Given the description of an element on the screen output the (x, y) to click on. 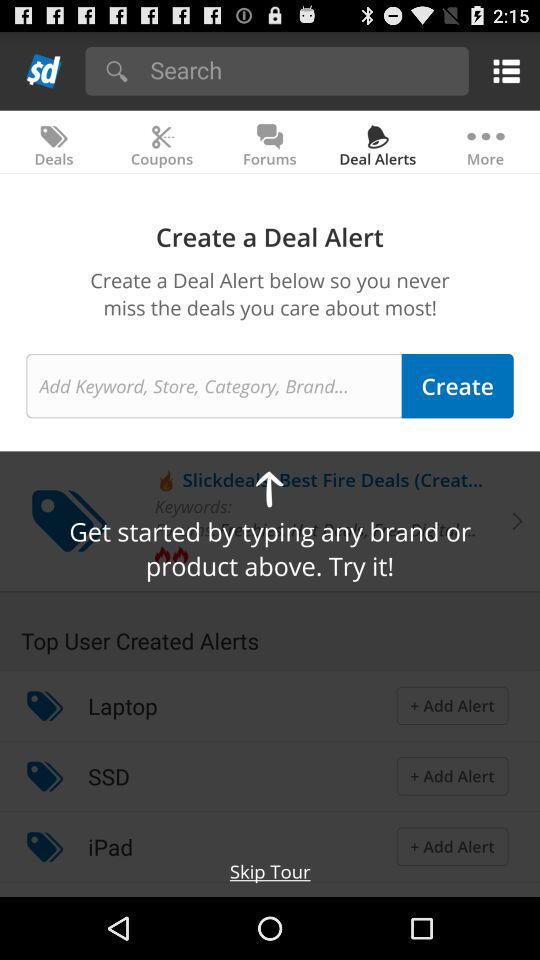
input search item (302, 69)
